Given the description of an element on the screen output the (x, y) to click on. 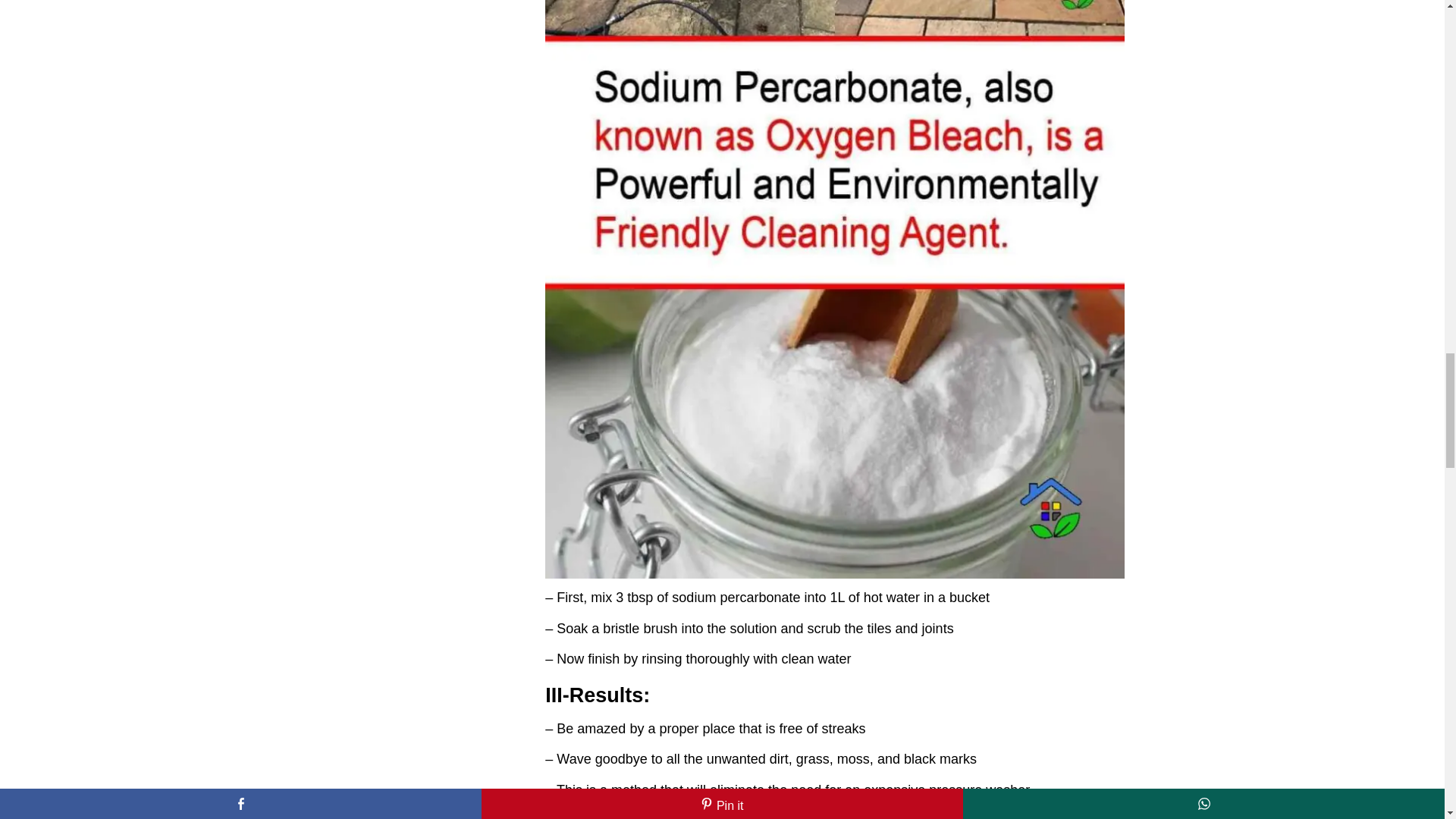
Advertisement (834, 814)
